Given the description of an element on the screen output the (x, y) to click on. 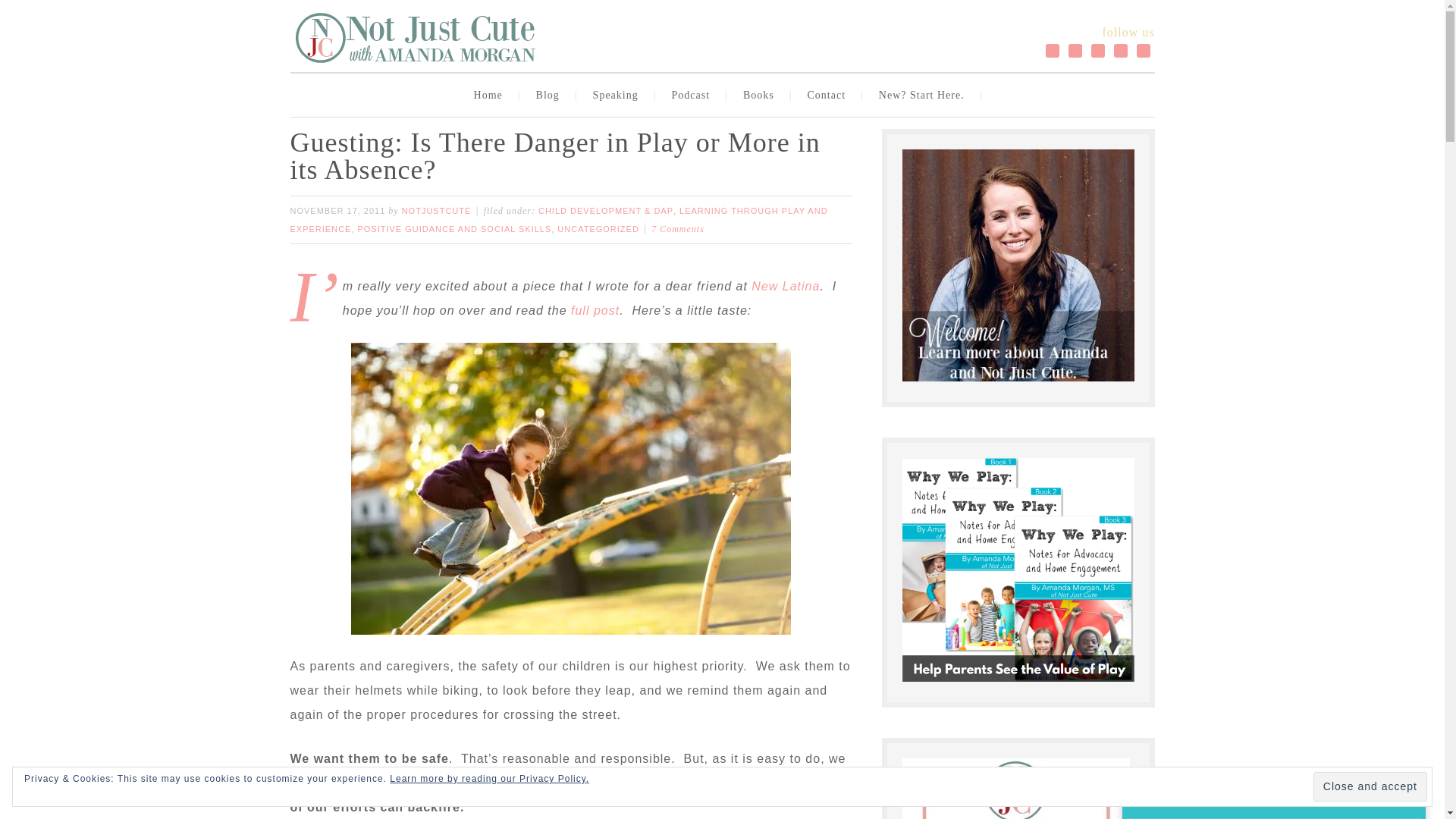
7 Comments (677, 228)
LEARNING THROUGH PLAY AND EXPERIENCE (558, 219)
UNCATEGORIZED (598, 228)
New? Start Here. (924, 95)
Speaking (618, 95)
Contact (829, 95)
Podcast (694, 95)
Home (492, 95)
full post (595, 309)
Books (762, 95)
NOTJUSTCUTE (436, 210)
Close and accept (1369, 786)
POSITIVE GUIDANCE AND SOCIAL SKILLS (453, 228)
New Latina (785, 286)
Blog (551, 95)
